Given the description of an element on the screen output the (x, y) to click on. 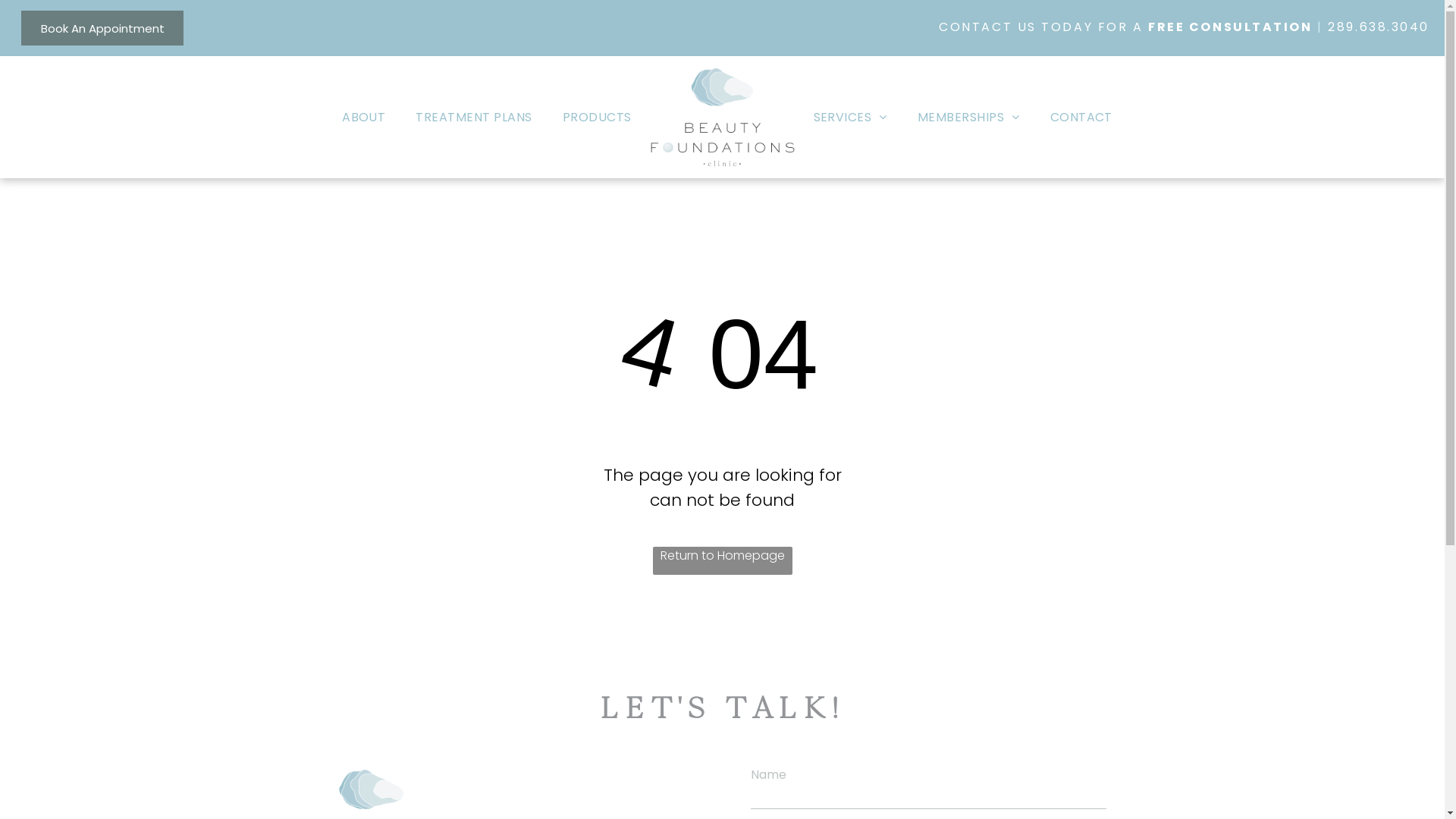
Book An Appointment Element type: text (102, 27)
SERVICES Element type: text (849, 117)
ABOUT Element type: text (363, 117)
PRODUCTS Element type: text (596, 117)
Return to Homepage Element type: text (721, 560)
CONTACT Element type: text (1081, 117)
MEMBERSHIPS Element type: text (968, 117)
TREATMENT PLANS Element type: text (473, 117)
